Given the description of an element on the screen output the (x, y) to click on. 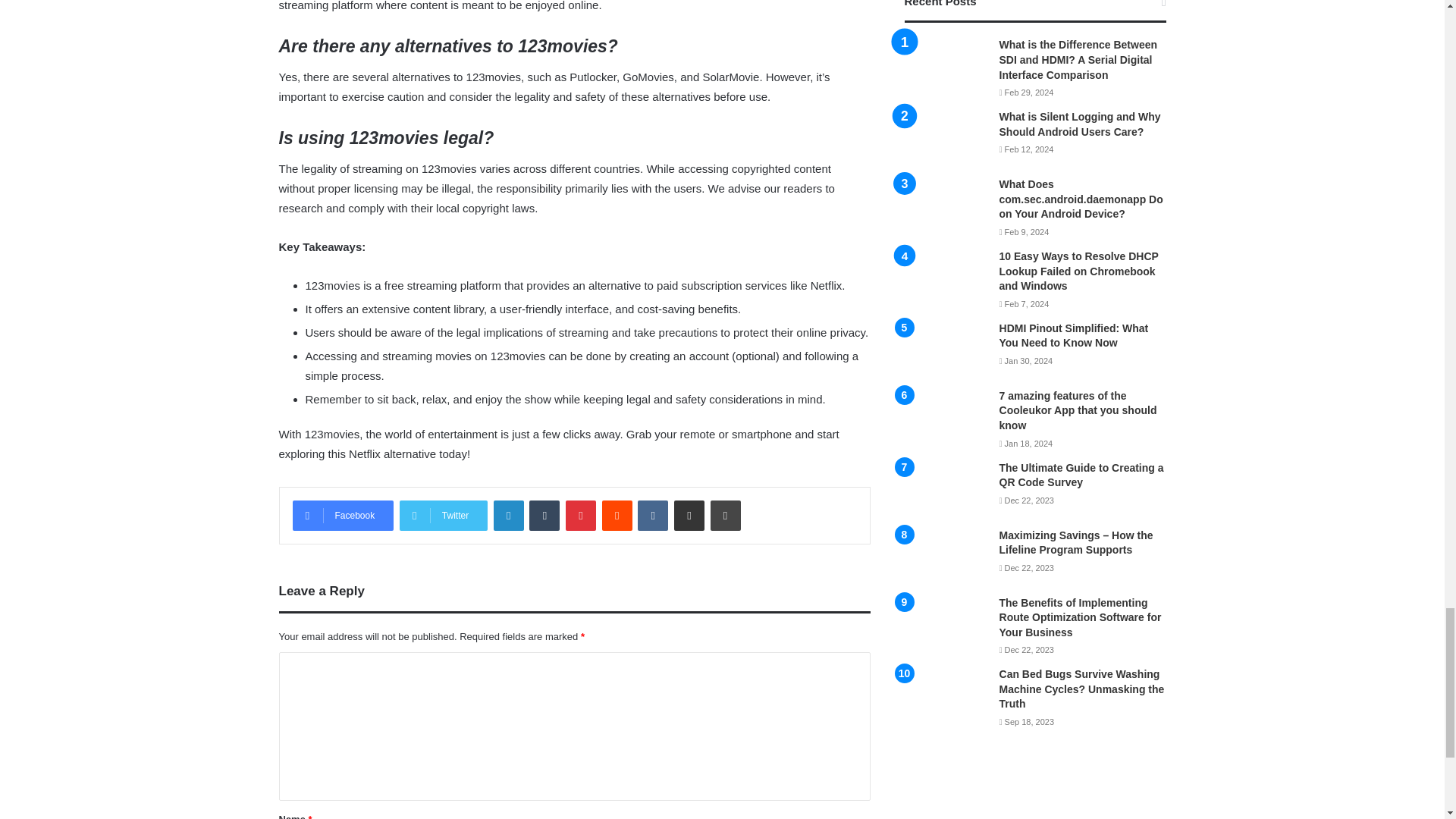
Print (725, 515)
VKontakte (652, 515)
Tumblr (544, 515)
Print (725, 515)
Facebook (343, 515)
Twitter (442, 515)
Tumblr (544, 515)
Share via Email (689, 515)
LinkedIn (508, 515)
Pinterest (580, 515)
Twitter (442, 515)
VKontakte (652, 515)
Share via Email (689, 515)
Facebook (343, 515)
Reddit (616, 515)
